Given the description of an element on the screen output the (x, y) to click on. 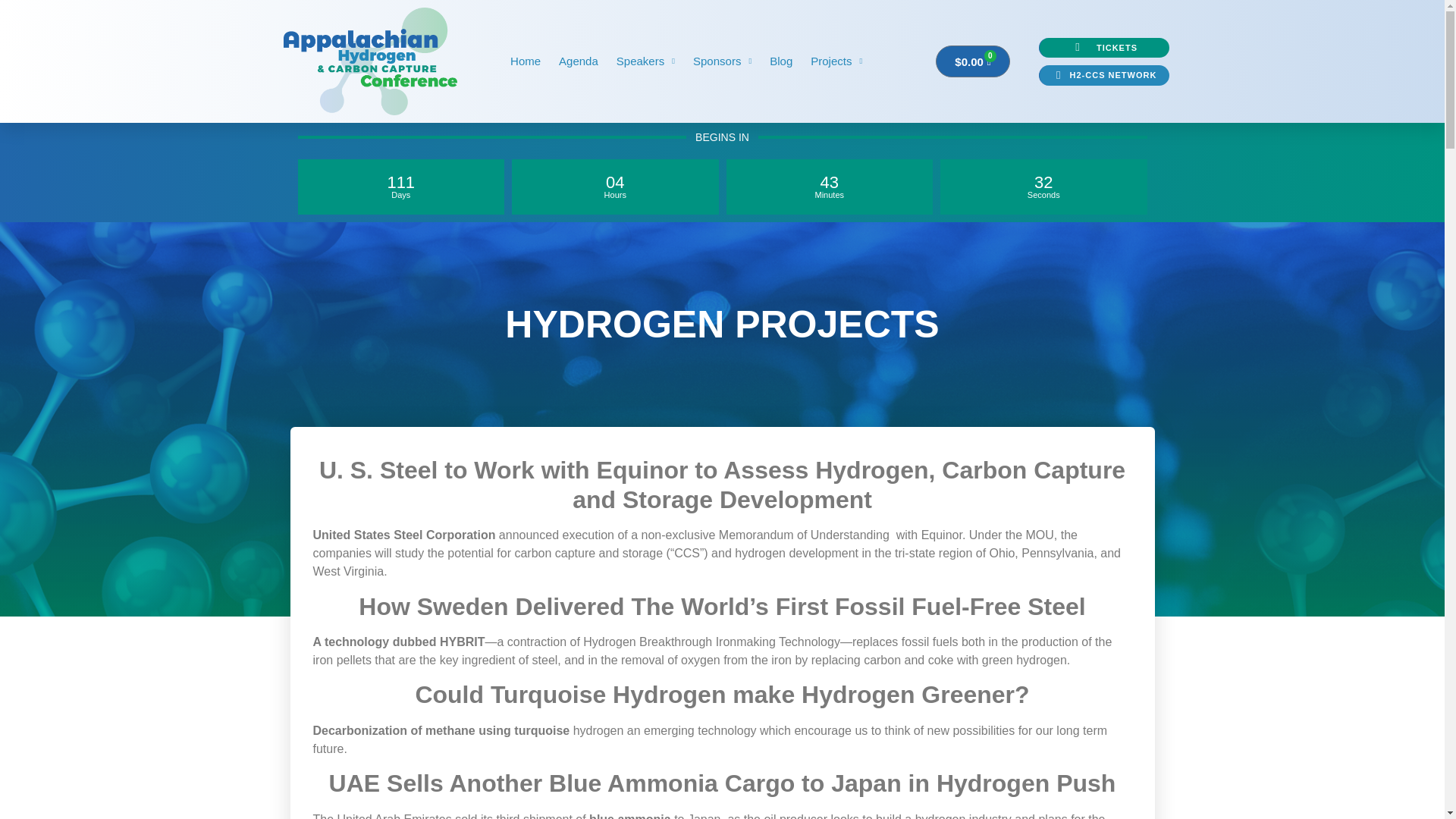
Agenda (578, 61)
Projects (835, 61)
Home (525, 61)
Speakers (645, 61)
Blog (781, 61)
Sponsors (722, 61)
